Given the description of an element on the screen output the (x, y) to click on. 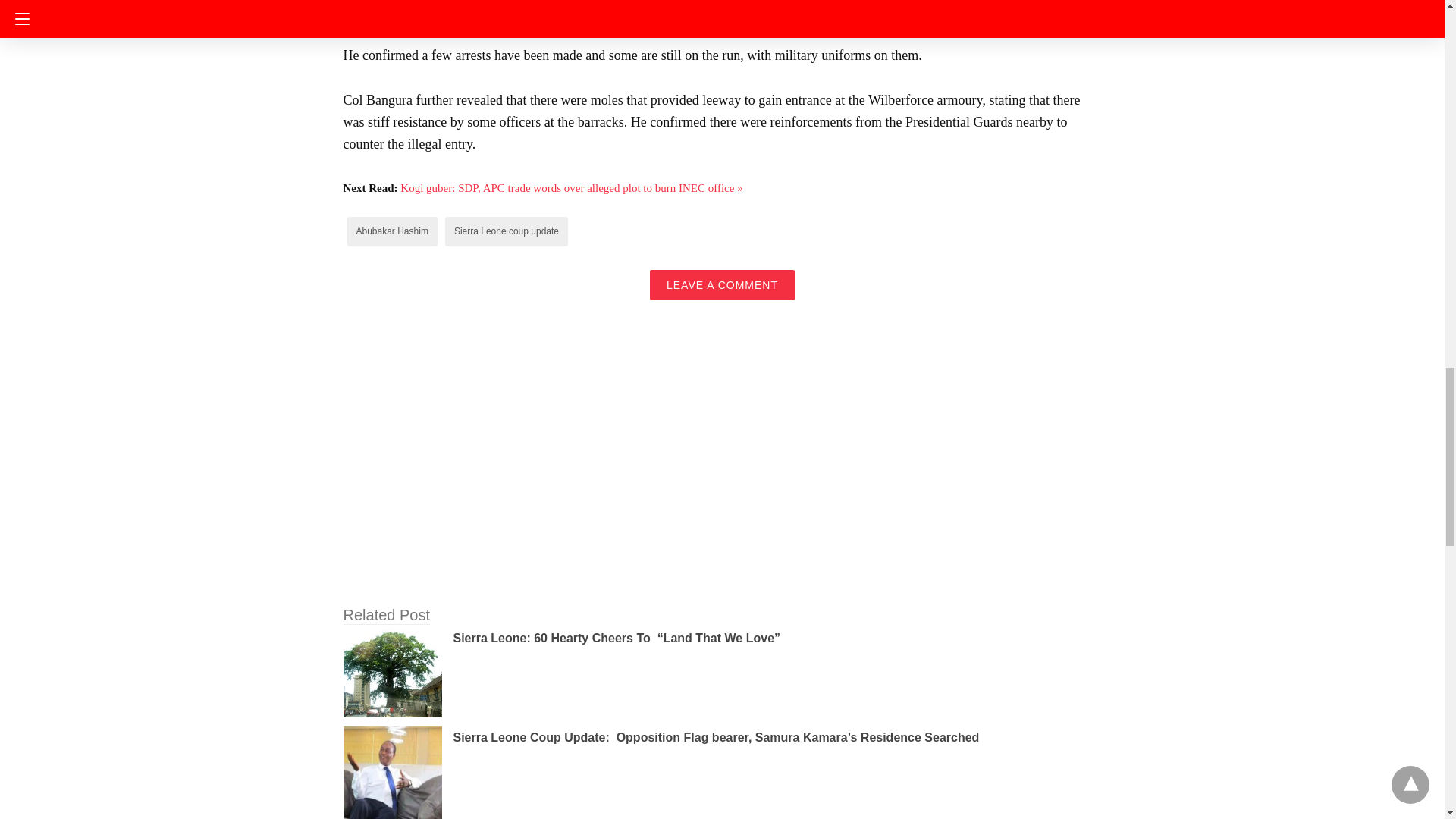
Abubakar Hashim (392, 231)
Sierra Leone coup update (506, 231)
LEAVE A COMMENT (721, 285)
Leave a Comment (721, 285)
